Given the description of an element on the screen output the (x, y) to click on. 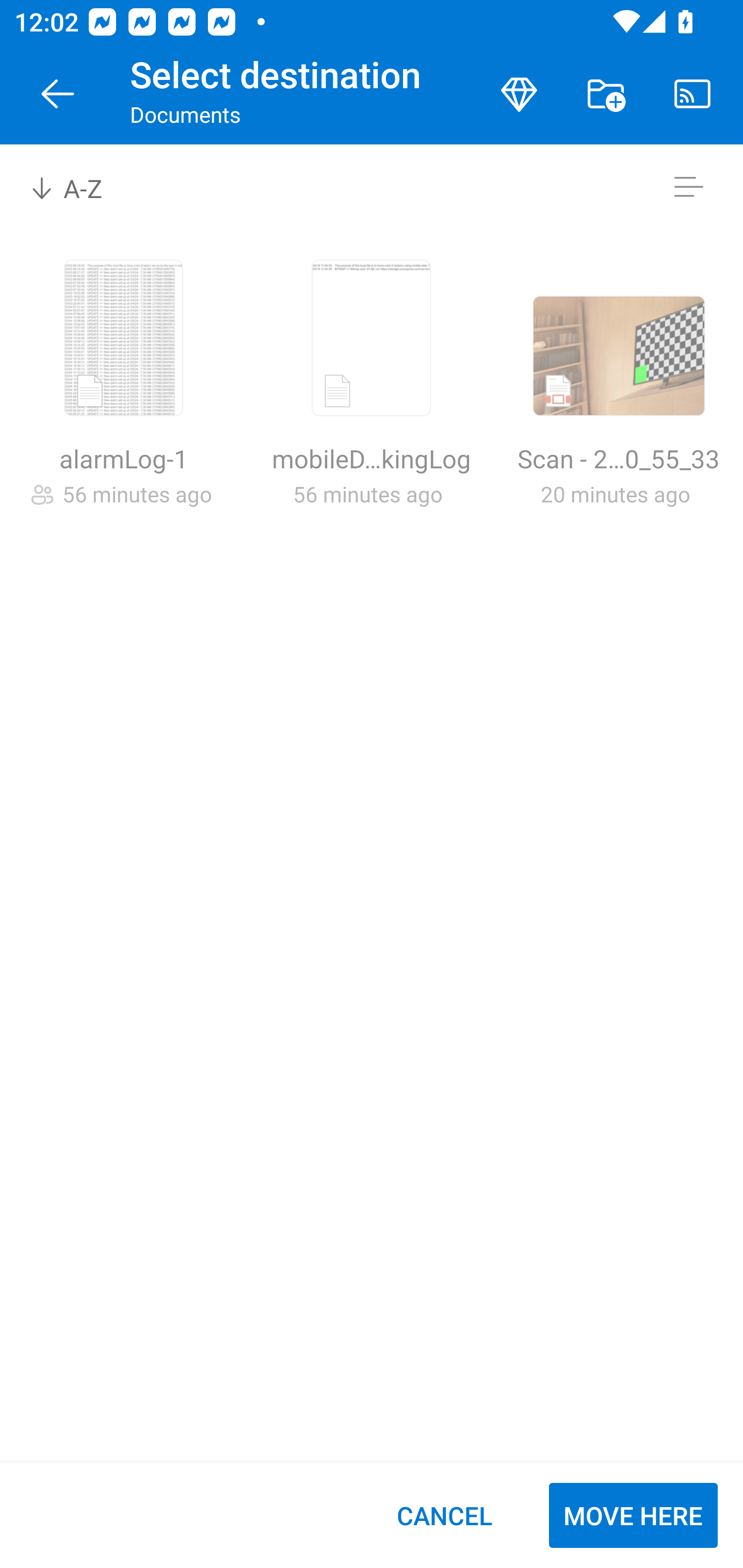
Navigate Up (57, 93)
Cast. Disconnected (692, 93)
Premium button (518, 93)
More actions button (605, 93)
A-Z Sort by combo box, sort by name, A to Z (80, 187)
Switch to list view (688, 187)
Document Shared alarmLog-1 56 minutes ago (123, 393)
Document mobileDataTrackingLog 56 minutes ago (370, 393)
Document Scan - 2024-03-28 10_55_33 20 minutes ago (618, 393)
56 minutes ago (136, 493)
56 minutes ago (367, 493)
20 minutes ago (615, 493)
CANCEL (443, 1515)
MOVE HERE (633, 1515)
